Given the description of an element on the screen output the (x, y) to click on. 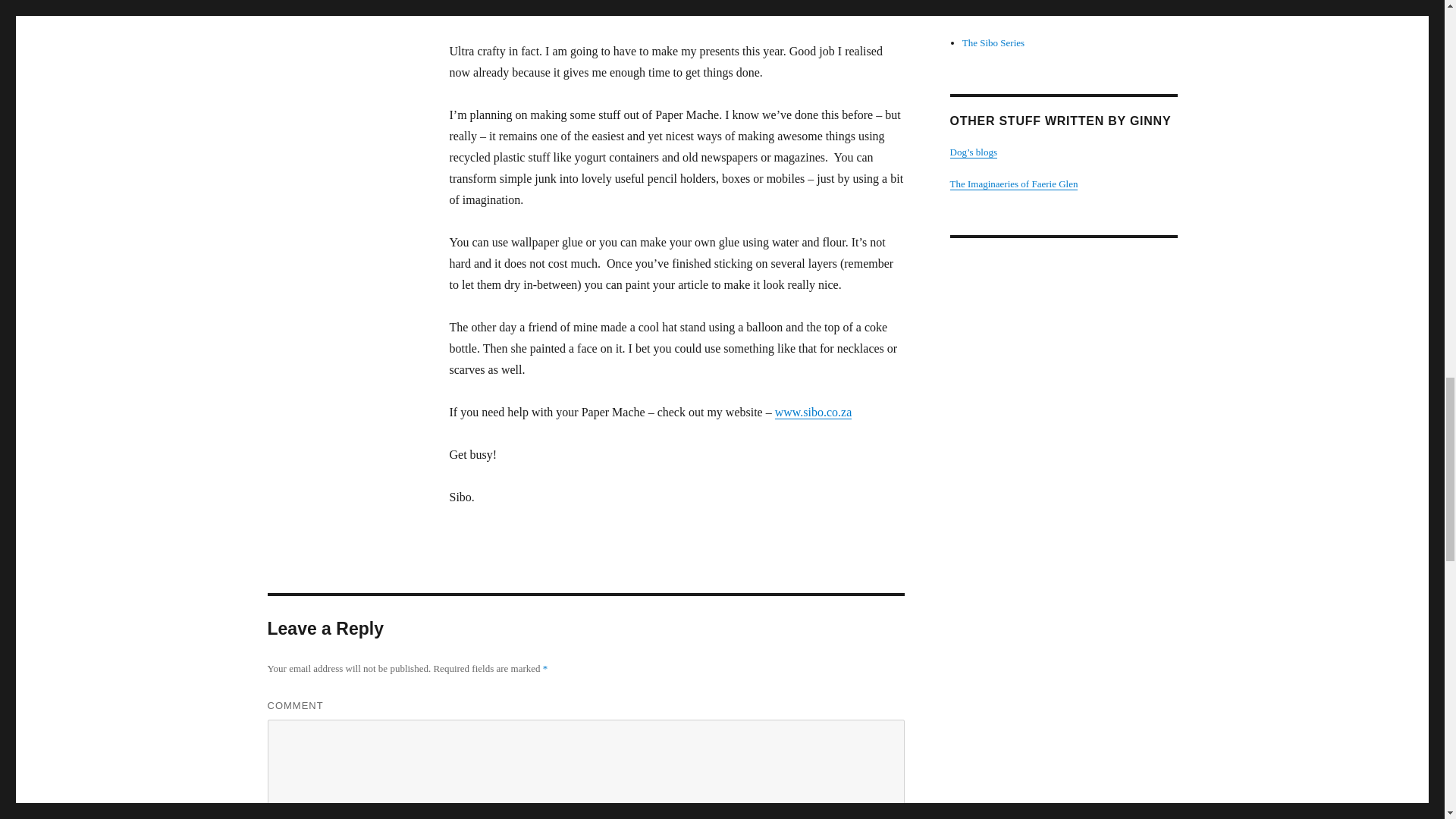
www.sibo.co.za (812, 411)
